Given the description of an element on the screen output the (x, y) to click on. 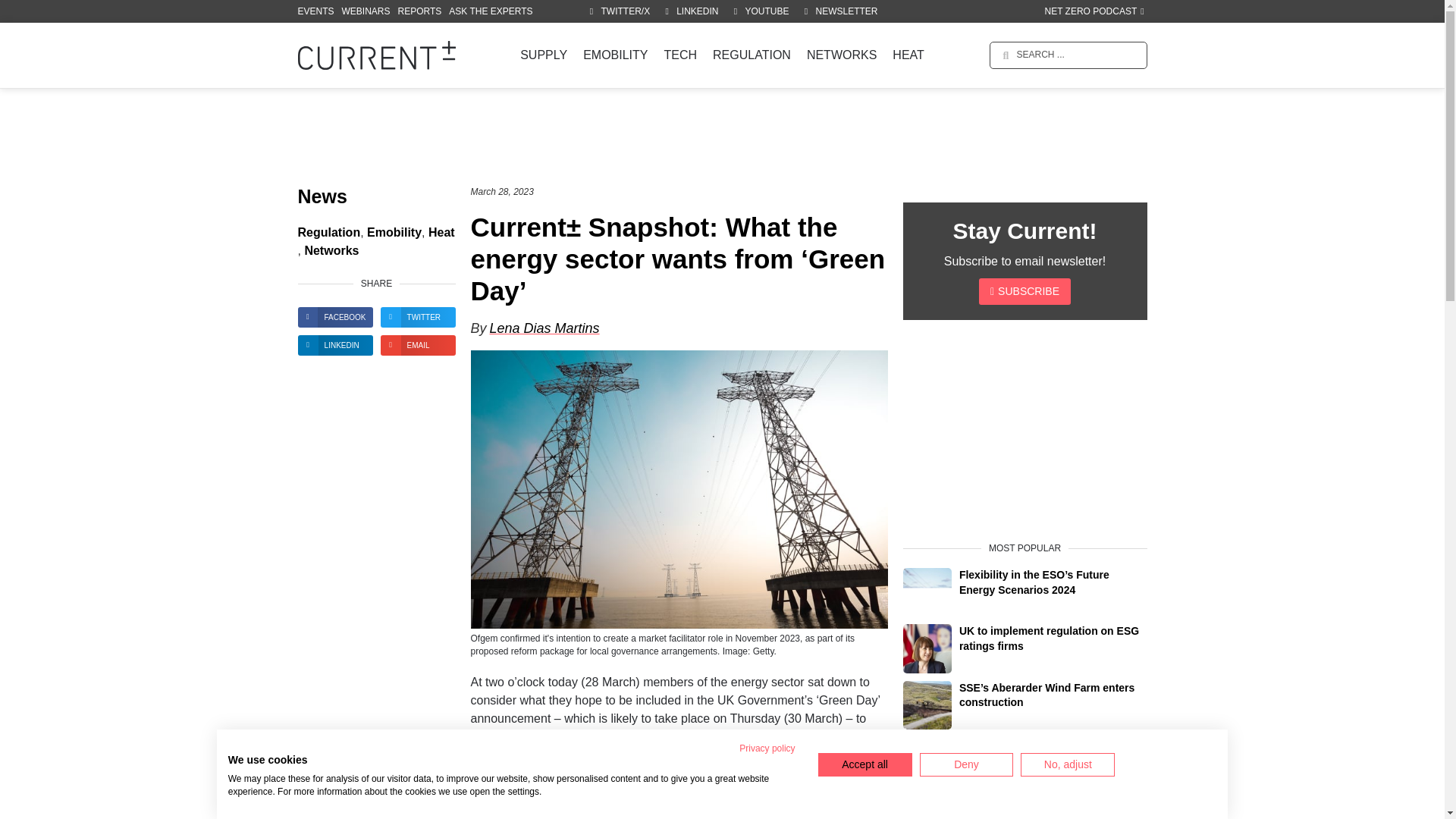
REPORTS (419, 11)
Emobility (394, 232)
HEAT (908, 54)
WEBINARS (366, 11)
Regulation (328, 232)
Lena Dias Martins (544, 328)
EMOBILITY (615, 54)
NET ZERO PODCAST (1092, 11)
ASK THE EXPERTS (490, 11)
News (321, 196)
